Given the description of an element on the screen output the (x, y) to click on. 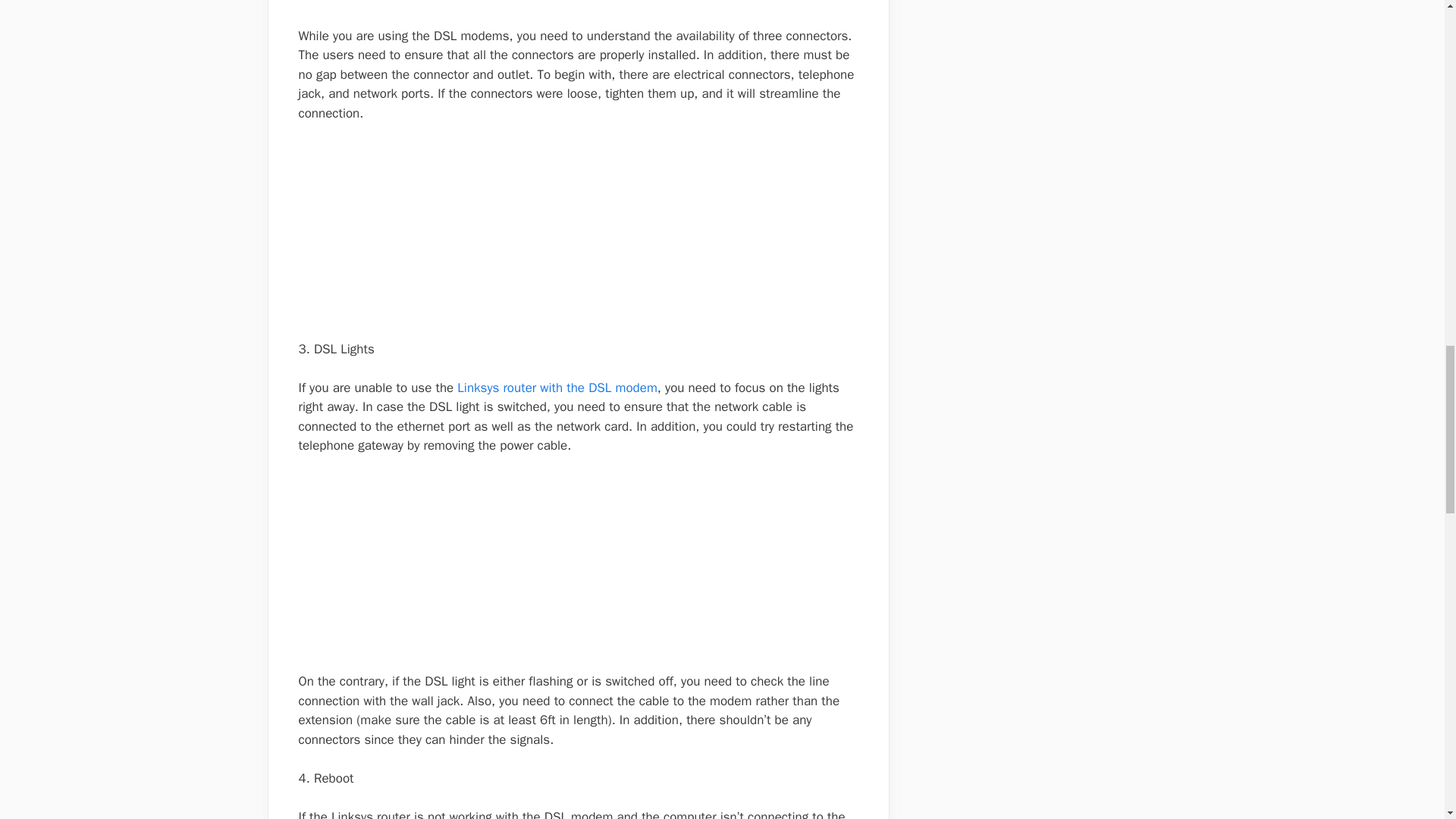
Linksys router with the DSL modem (557, 387)
